Given the description of an element on the screen output the (x, y) to click on. 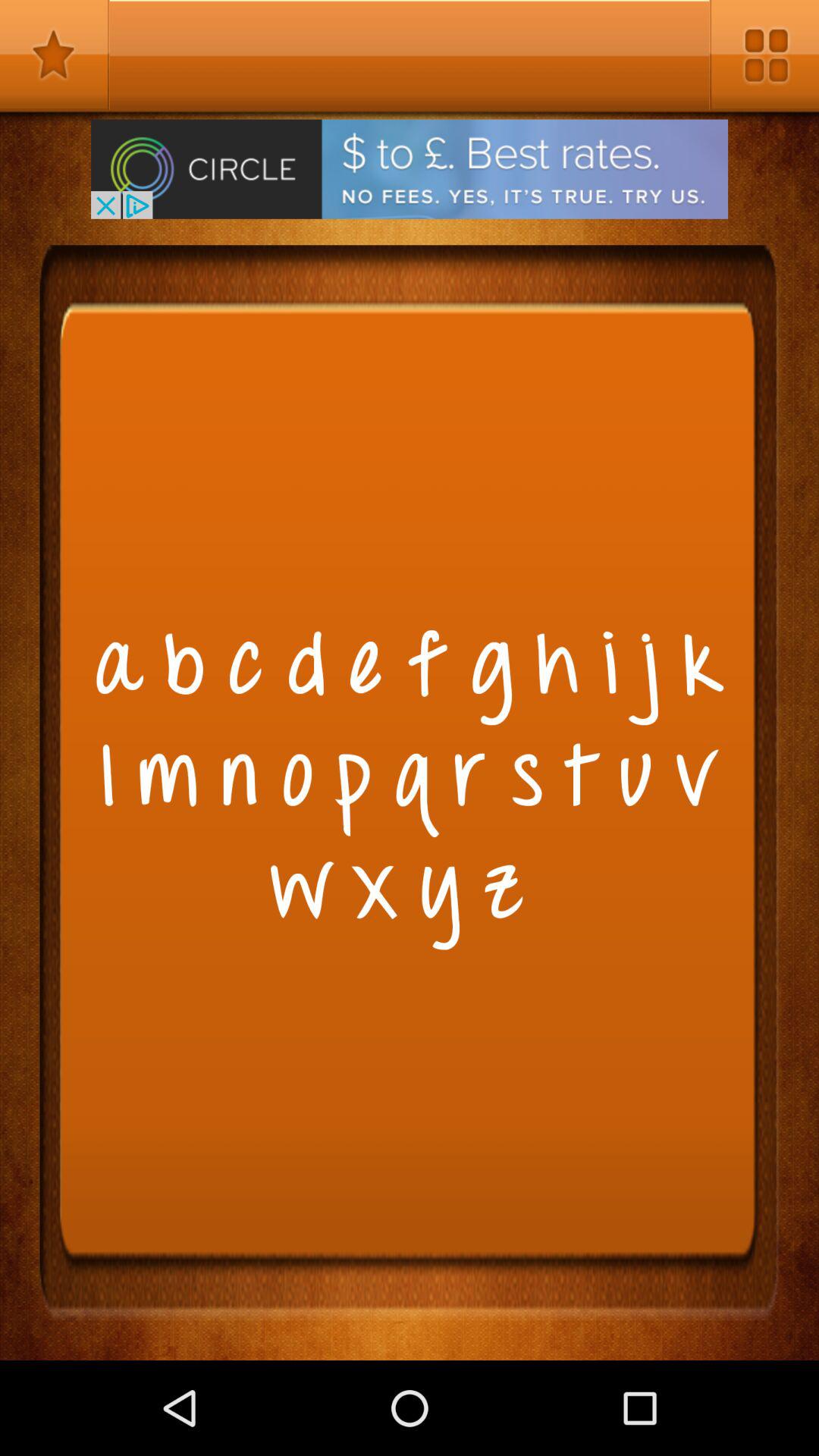
bookmark page (54, 54)
